Given the description of an element on the screen output the (x, y) to click on. 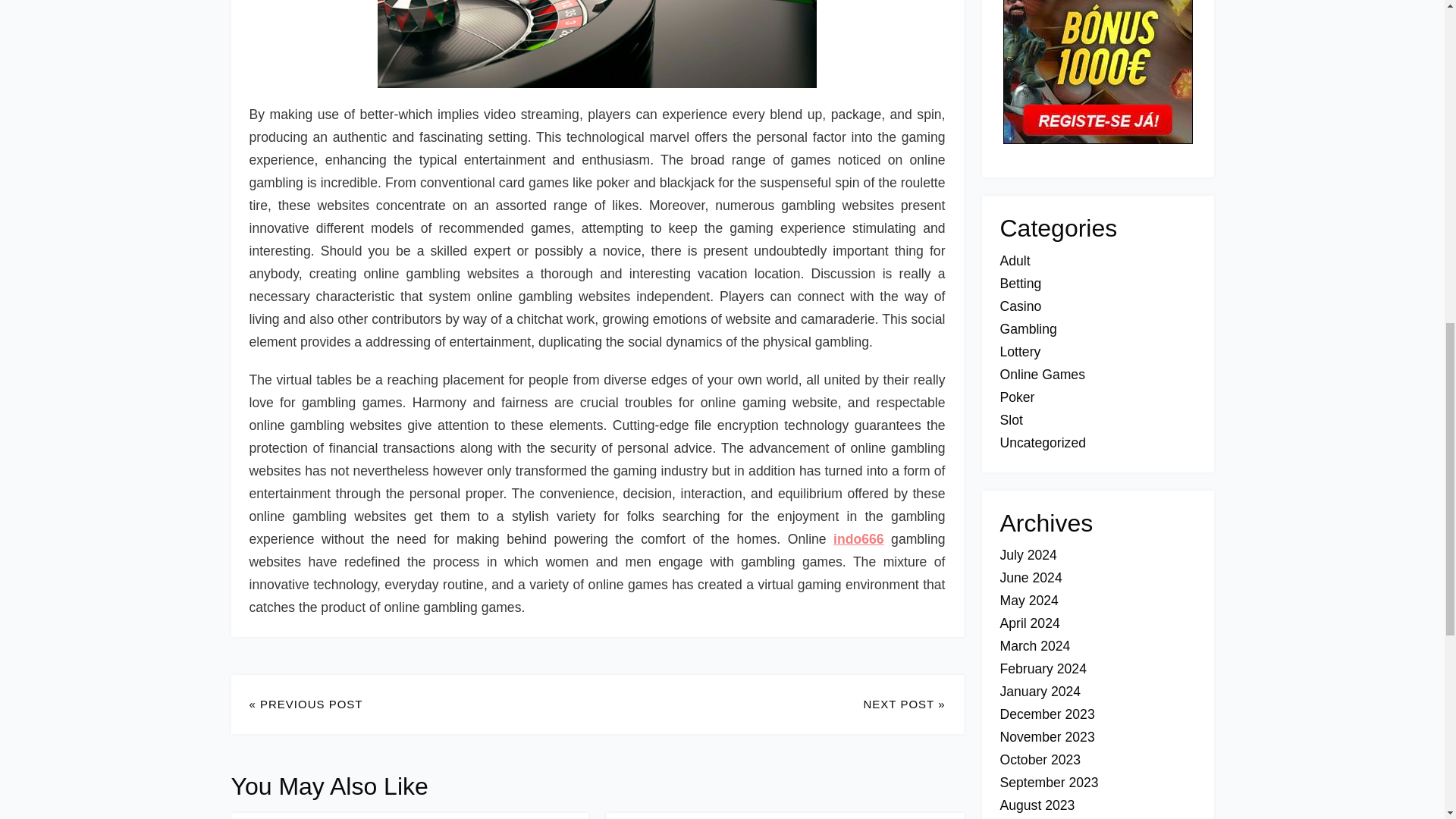
Gambling (1027, 328)
Casino (1019, 305)
Adult (1013, 260)
Betting (1019, 283)
indo666 (857, 539)
